Given the description of an element on the screen output the (x, y) to click on. 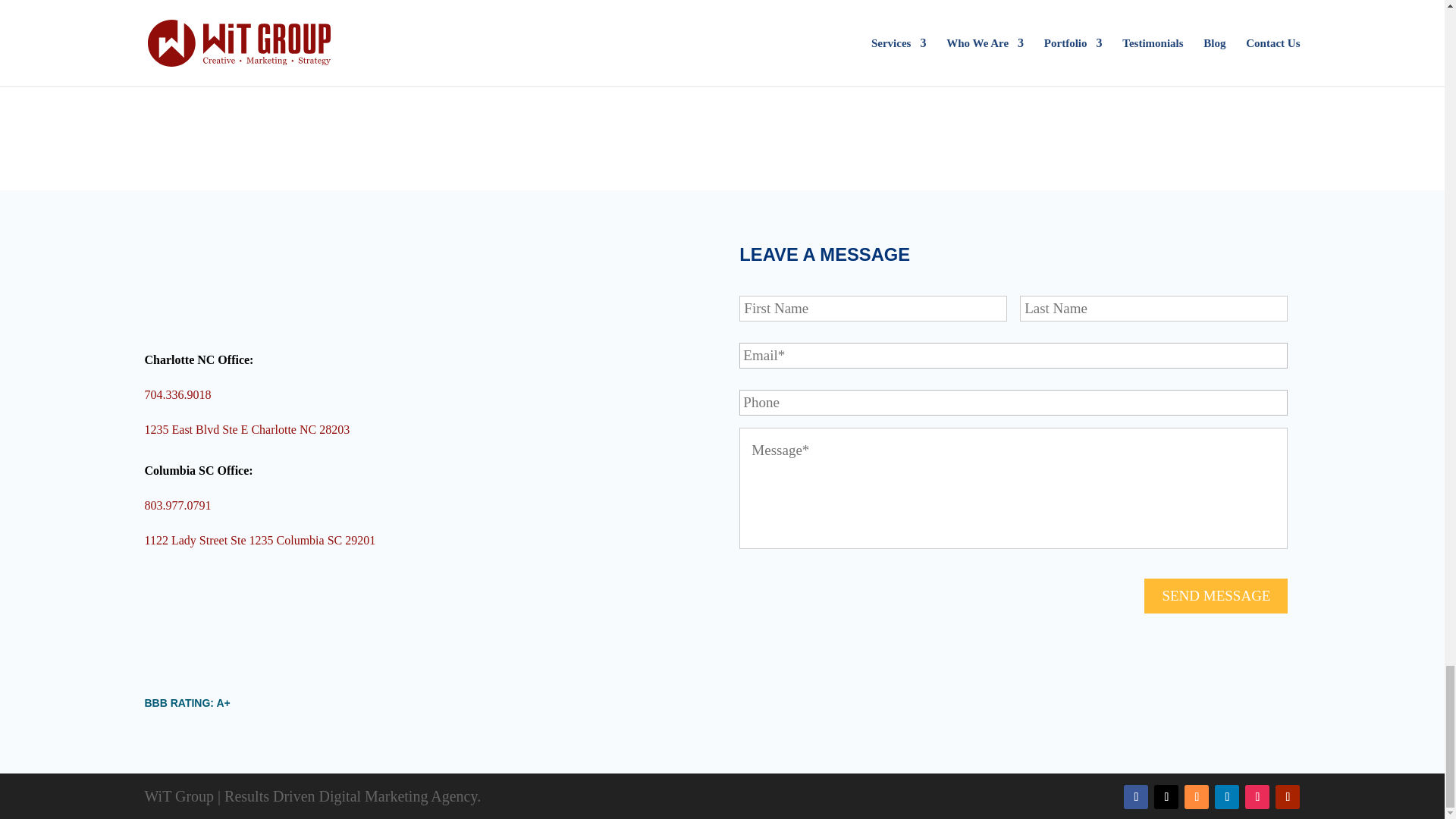
Best Facebook Marketing Agency Charlotte (823, 56)
best advertising agencies charlotte nc 2023 (1026, 48)
top conversion optimization company charlotte 2023 (1230, 58)
2022 media innovator award logo (416, 51)
Send Message (1215, 595)
2024 national excellence award by upcity (213, 56)
google badged partner agency 2023 (620, 54)
